Given the description of an element on the screen output the (x, y) to click on. 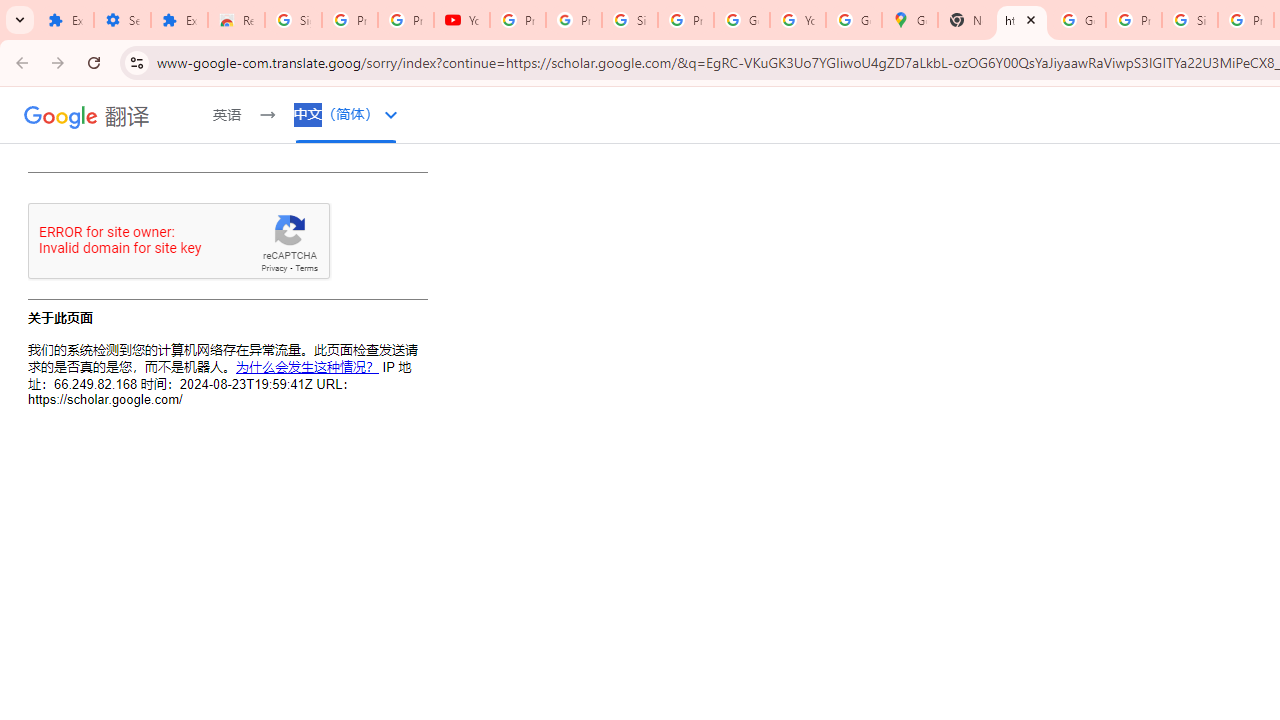
https://scholar.google.com/ (1021, 20)
Google Account (742, 20)
YouTube (797, 20)
Reviews: Helix Fruit Jump Arcade Game (235, 20)
New Tab (966, 20)
Google Maps (909, 20)
Extensions (179, 20)
Sign in - Google Accounts (293, 20)
